Given the description of an element on the screen output the (x, y) to click on. 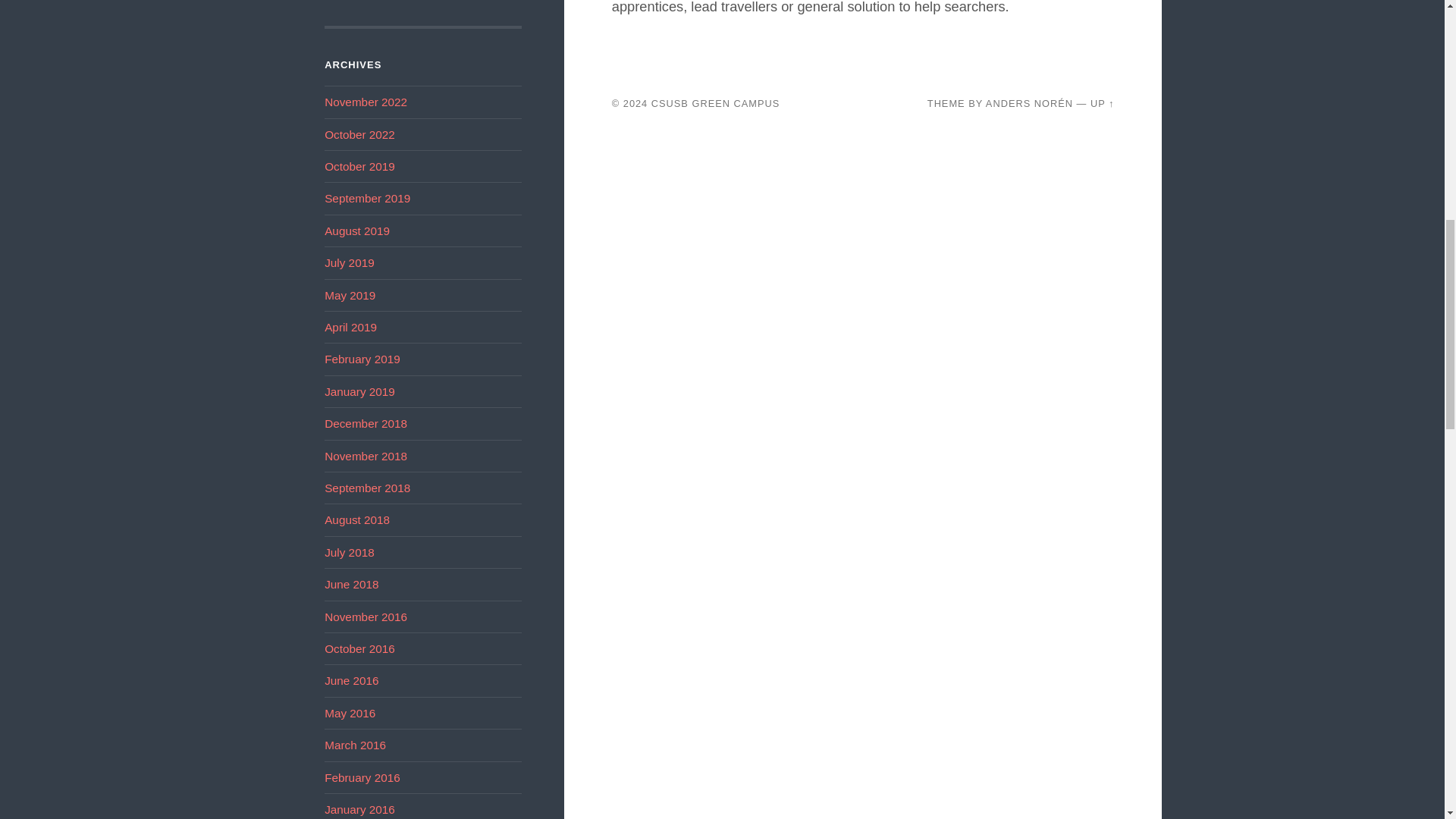
February 2016 (362, 777)
March 2016 (354, 744)
August 2019 (357, 230)
May 2016 (349, 712)
May 2019 (349, 295)
November 2022 (365, 101)
October 2022 (359, 133)
June 2018 (351, 584)
December 2018 (365, 422)
August 2018 (357, 519)
January 2016 (359, 809)
July 2018 (349, 552)
November 2018 (365, 455)
November 2016 (365, 616)
February 2019 (362, 358)
